Given the description of an element on the screen output the (x, y) to click on. 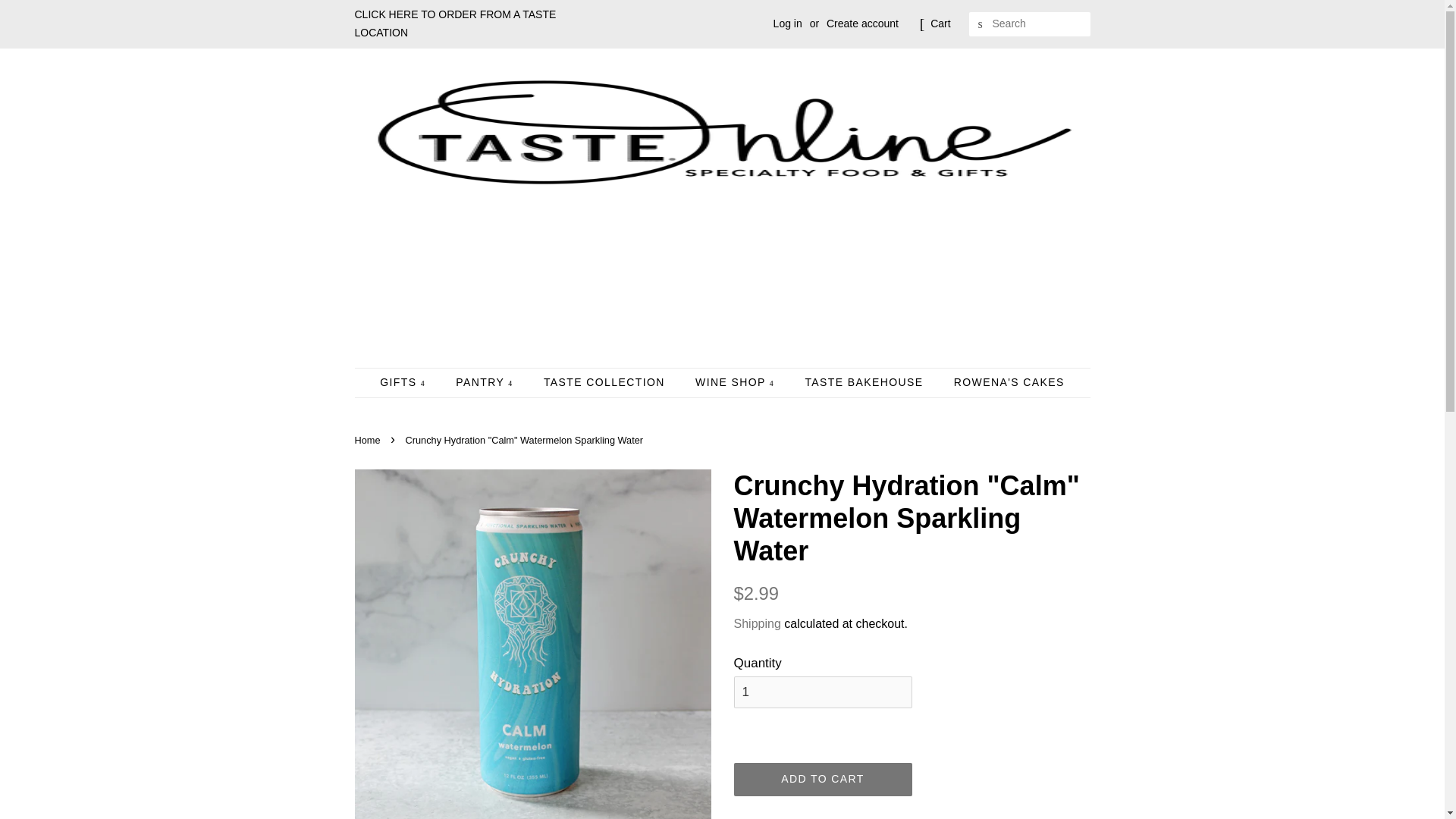
Create account (862, 23)
Log in (787, 23)
Back to the frontpage (369, 439)
SEARCH (980, 24)
Cart (940, 24)
CLICK HERE TO ORDER FROM A TASTE LOCATION (455, 23)
1 (822, 692)
